Given the description of an element on the screen output the (x, y) to click on. 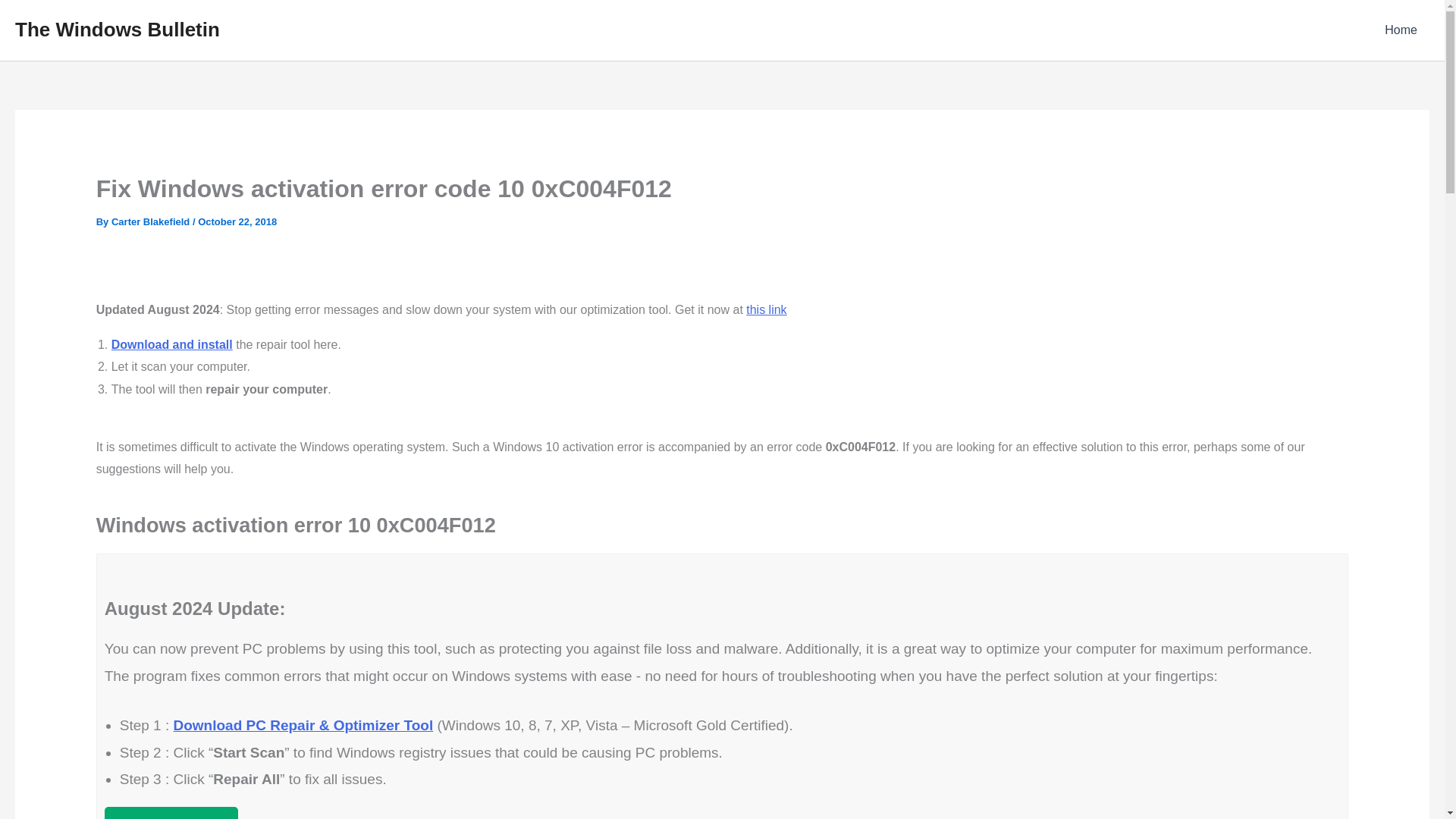
The Windows Bulletin (116, 29)
Download Now (171, 812)
Download and install (172, 344)
Carter Blakefield (152, 221)
View all posts by Carter Blakefield (152, 221)
this link (765, 309)
Home (1401, 30)
